Given the description of an element on the screen output the (x, y) to click on. 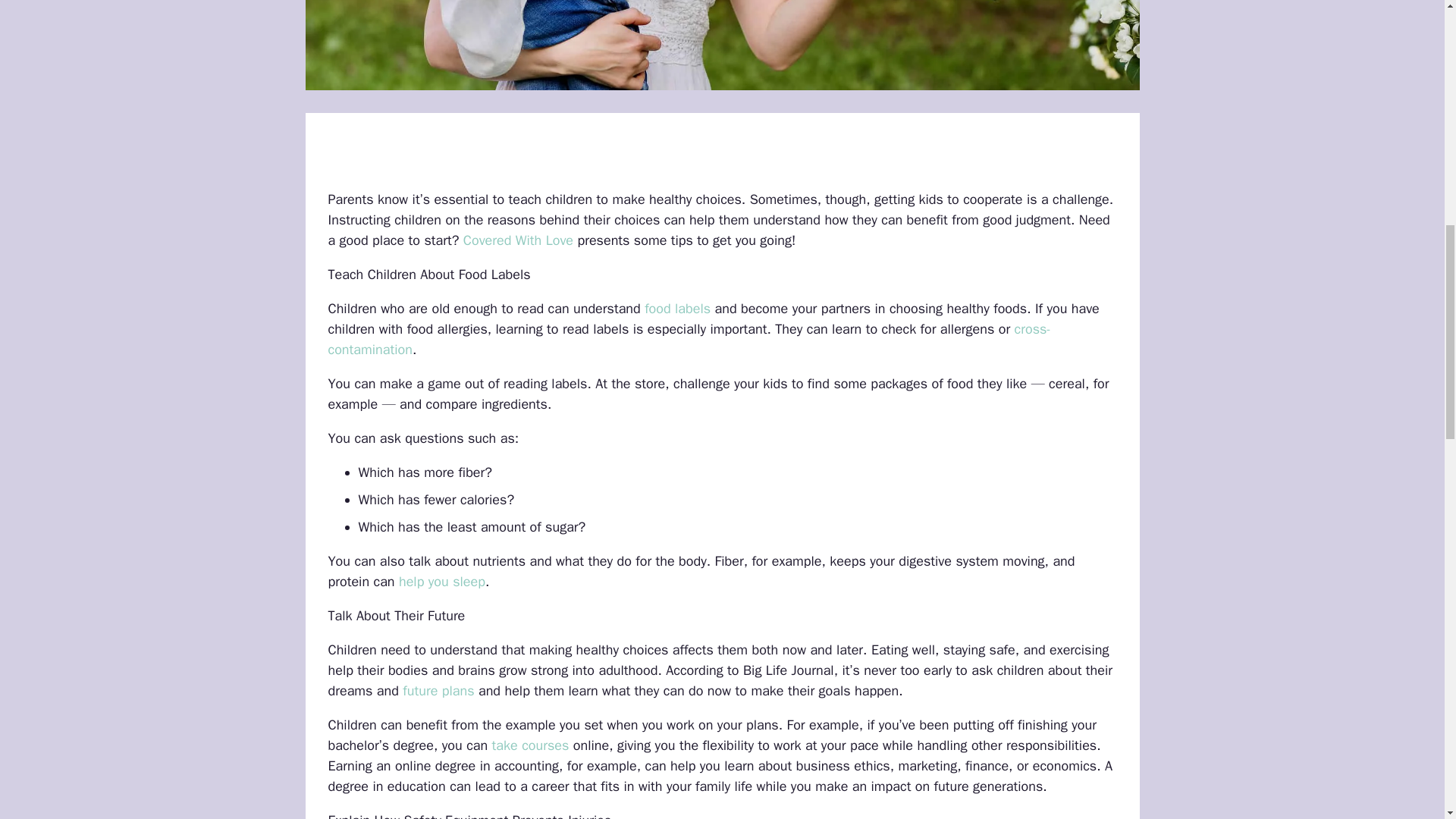
future plans (438, 690)
Covered With Love (518, 239)
take courses (530, 745)
food labels (677, 308)
help you sleep (441, 581)
cross-contamination (688, 339)
